Given the description of an element on the screen output the (x, y) to click on. 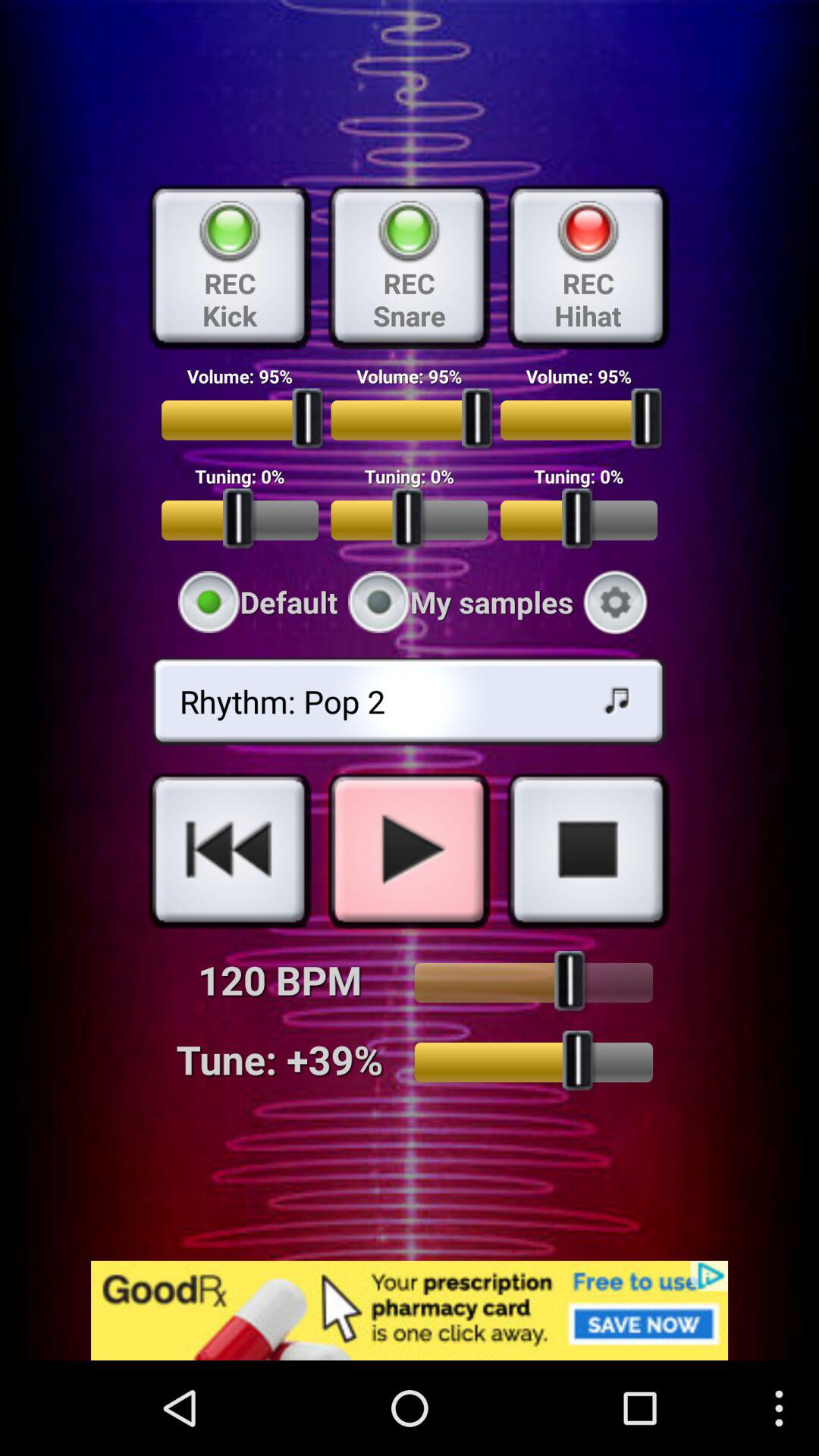
go back (229, 850)
